Given the description of an element on the screen output the (x, y) to click on. 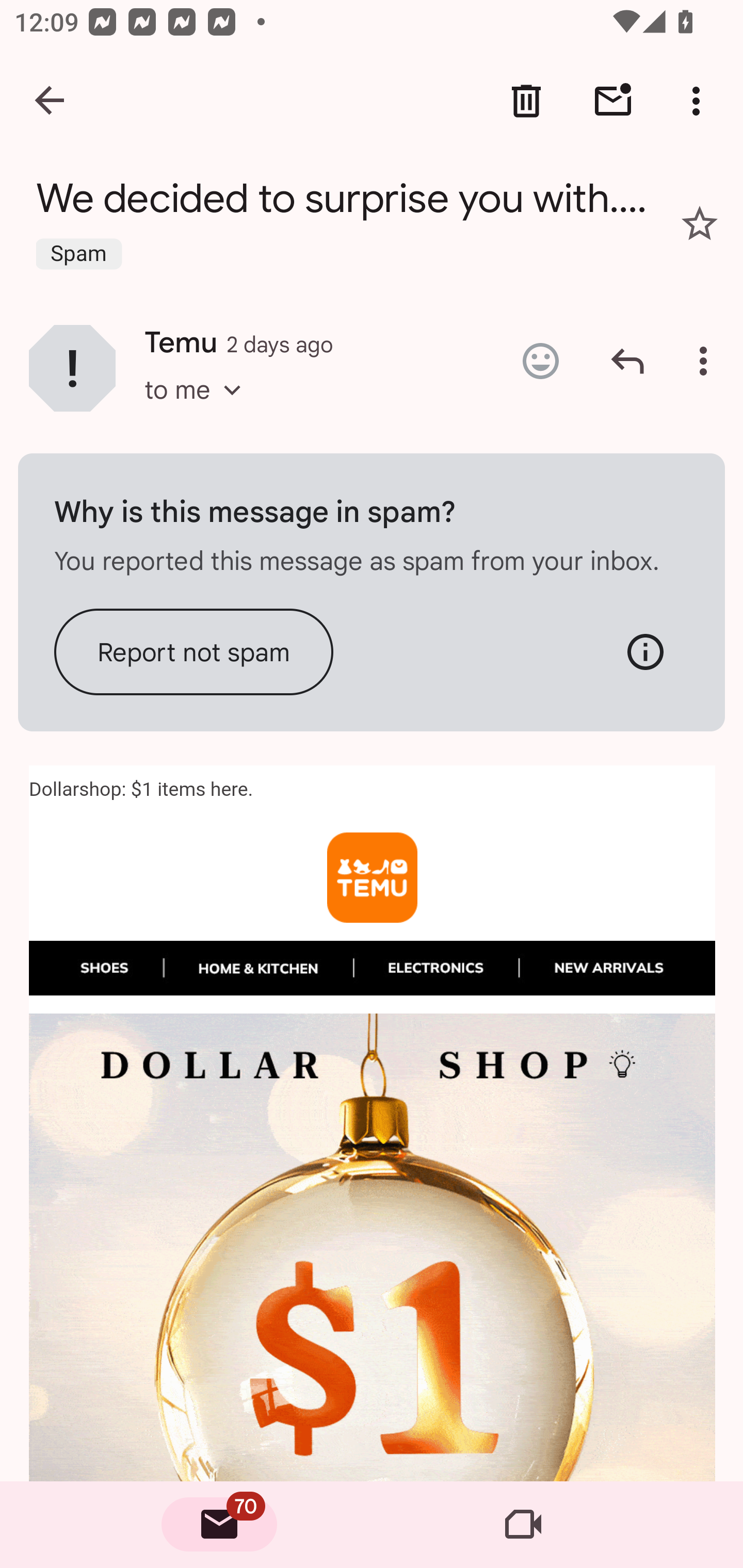
Navigate up (50, 101)
Delete (525, 101)
Mark unread (612, 101)
More options (699, 101)
Add star (699, 223)
Add emoji reaction (540, 361)
Reply (626, 361)
More options (706, 361)
Show contact information for Temu (71, 367)
to me (199, 408)
Report not spam (193, 651)
More information (644, 651)
Meet (523, 1524)
